Given the description of an element on the screen output the (x, y) to click on. 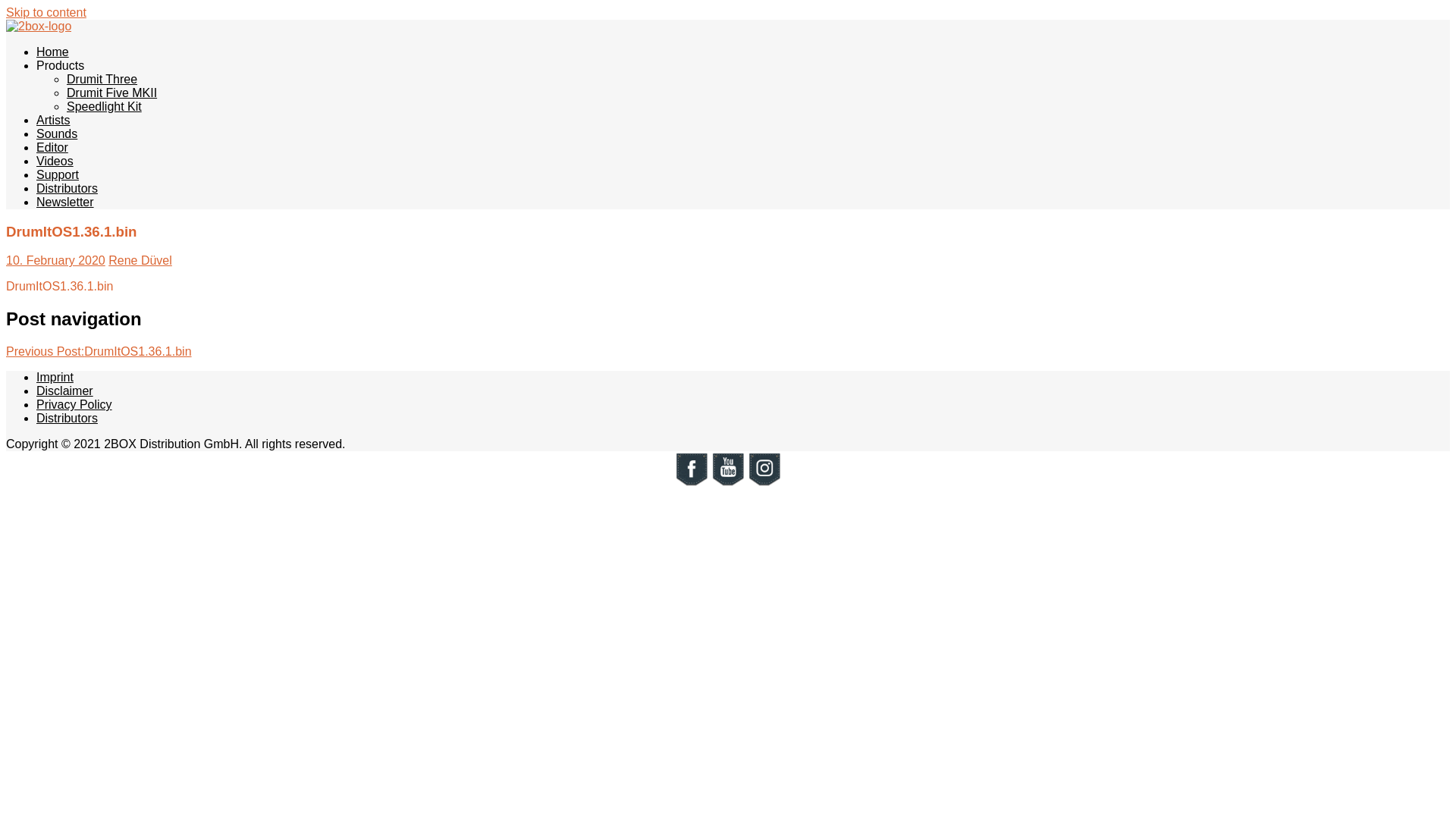
Visit Us On Facebook Element type: hover (691, 482)
Speedlight Kit Element type: text (103, 106)
Visit Us On Instagram Element type: hover (764, 482)
DrumItOS1.36.1.bin Element type: text (59, 285)
Newsletter Element type: text (65, 201)
Drumit Five MKII Element type: text (111, 92)
Distributors Element type: text (66, 417)
Previous Post:DrumItOS1.36.1.bin Element type: text (98, 351)
Home Element type: text (52, 51)
Drumit Three Element type: text (101, 78)
Editor Element type: text (52, 147)
Distributors Element type: text (66, 188)
Visit Us On Youtube Element type: hover (727, 482)
10. February 2020 Element type: text (55, 260)
Imprint Element type: text (54, 376)
Artists Element type: text (52, 119)
Disclaimer Element type: text (64, 390)
Videos Element type: text (54, 160)
Privacy Policy Element type: text (74, 404)
Products Element type: text (60, 65)
Sounds Element type: text (56, 133)
Support Element type: text (57, 174)
Skip to content Element type: text (46, 12)
